Given the description of an element on the screen output the (x, y) to click on. 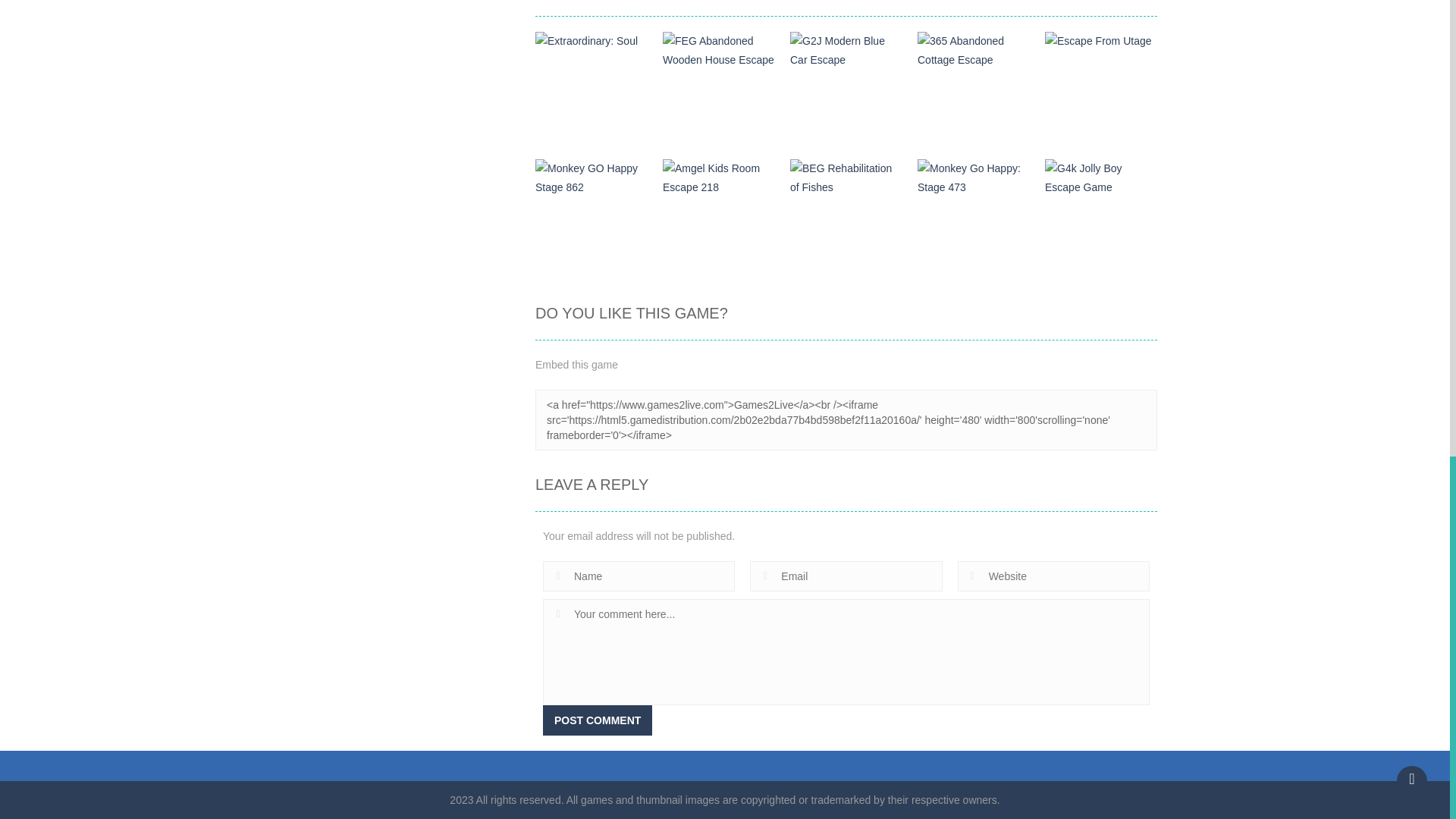
Post Comment (597, 720)
